Given the description of an element on the screen output the (x, y) to click on. 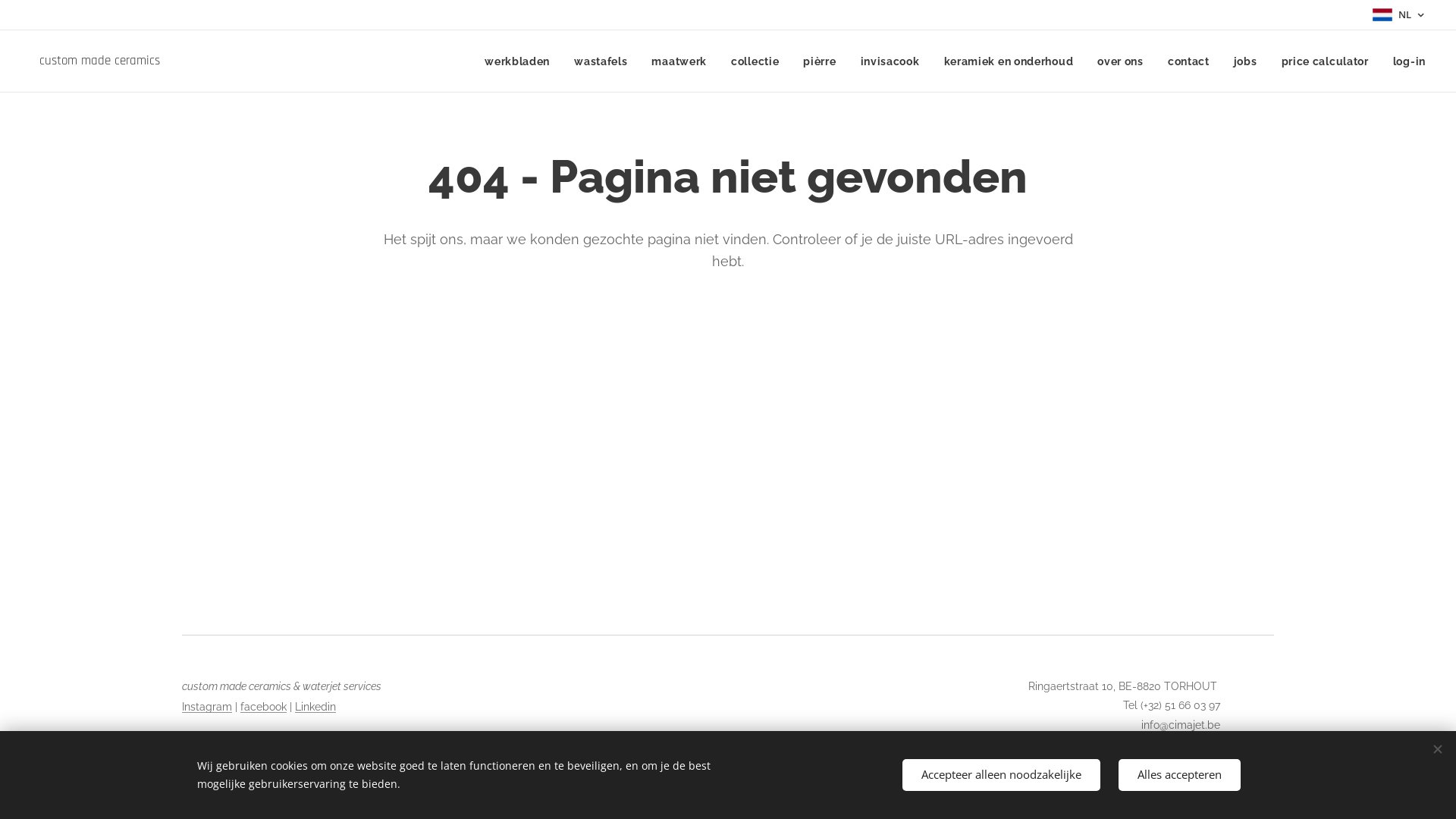
Accepteer alleen noodzakelijke Element type: text (1001, 774)
price calculator Element type: text (1324, 61)
facebook Element type: text (263, 706)
invisacook Element type: text (889, 61)
English Element type: text (1255, 765)
Cookies Element type: text (1254, 744)
wastafels Element type: text (600, 61)
collectie Element type: text (754, 61)
log-in Element type: text (1402, 61)
keramiek en onderhoud Element type: text (1008, 61)
Linkedin Element type: text (314, 706)
Instagram Element type: text (207, 706)
Alles accepteren Element type: text (1179, 774)
contact Element type: text (1188, 61)
werkbladen Element type: text (520, 61)
jobs Element type: text (1245, 61)
custom made ceramics Element type: text (96, 61)
over ons Element type: text (1120, 61)
maatwerk Element type: text (678, 61)
